Given the description of an element on the screen output the (x, y) to click on. 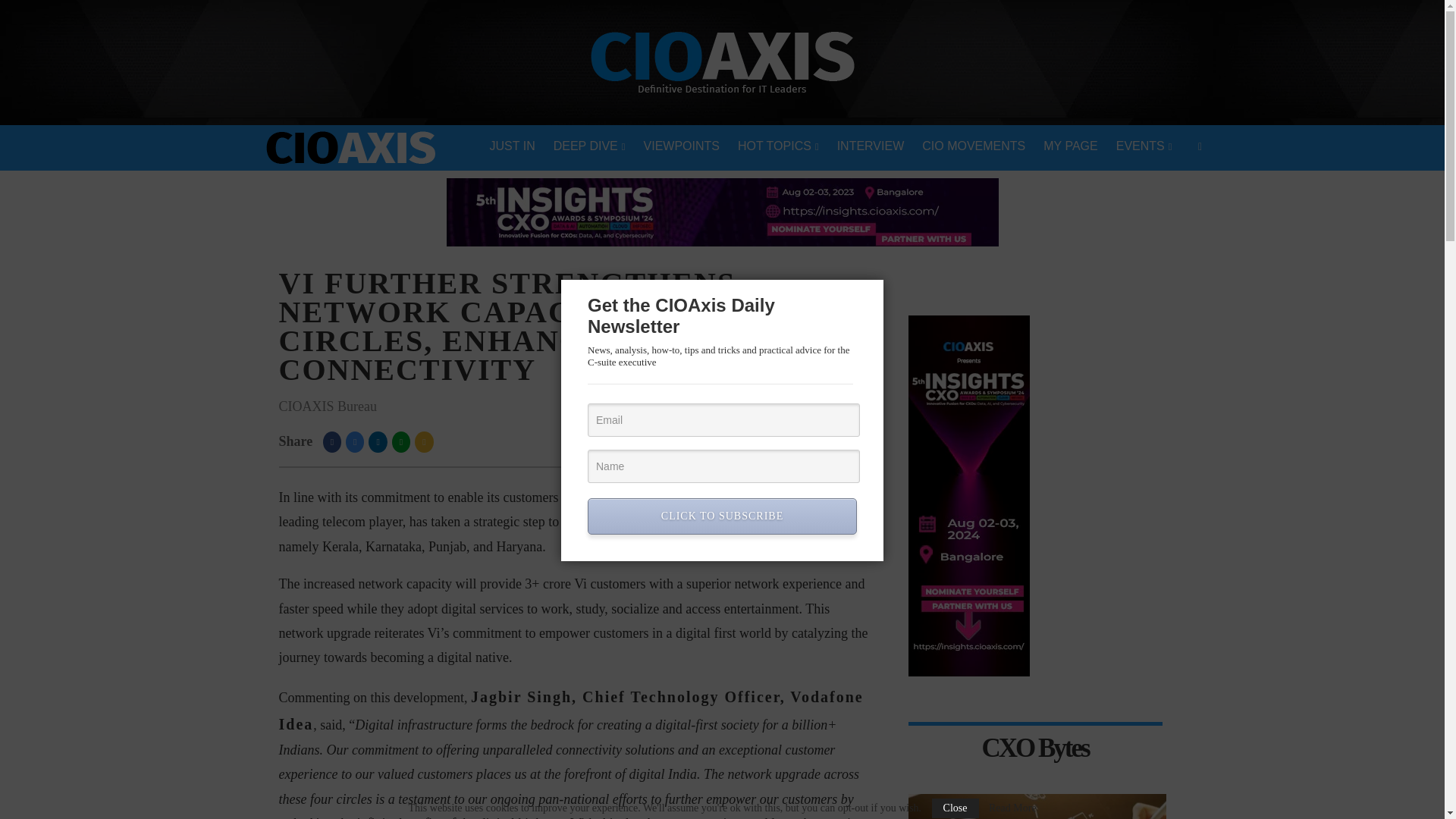
JUST IN (512, 146)
Name (724, 466)
INTERVIEW (871, 146)
CIOAXIS Bureau (328, 406)
Email (724, 419)
VIEWPOINTS (681, 146)
MY PAGE (1069, 146)
CIO MOVEMENTS (972, 146)
HOT TOPICS (778, 146)
EVENTS (1143, 146)
DEEP DIVE (589, 146)
